Given the description of an element on the screen output the (x, y) to click on. 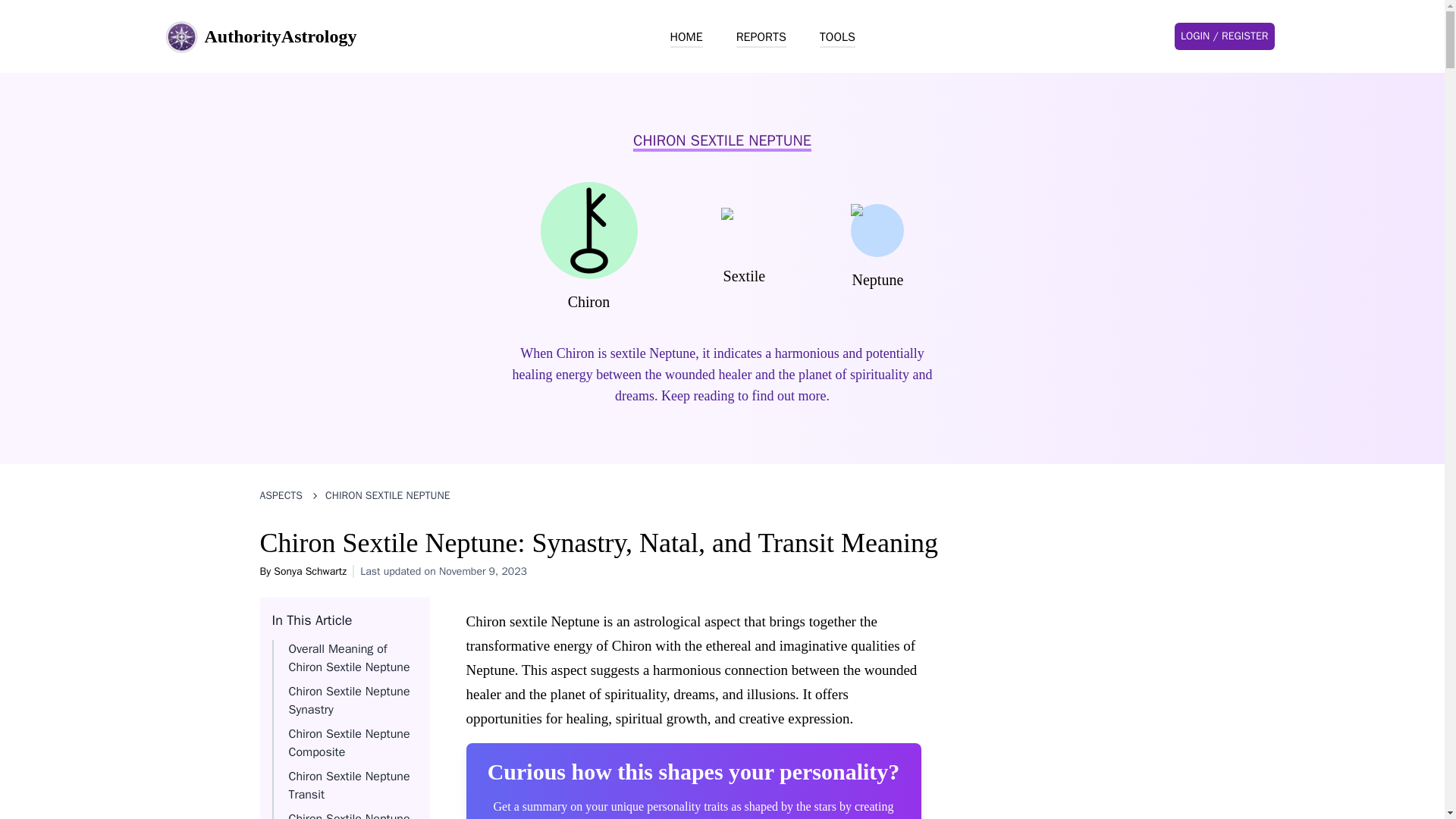
REPORTS (761, 37)
Chiron Sextile Neptune Composite (348, 743)
Overall Meaning of Chiron Sextile Neptune (348, 657)
TOOLS (837, 37)
Sonya Schwartz (309, 571)
AuthorityAstrology (259, 36)
HOME (686, 37)
CHIRON SEXTILE NEPTUNE (386, 495)
ASPECTS (280, 495)
Chiron Sextile Neptune Natal (348, 815)
Chiron Sextile Neptune Synastry (348, 700)
Chiron Sextile Neptune Transit (348, 785)
